Given the description of an element on the screen output the (x, y) to click on. 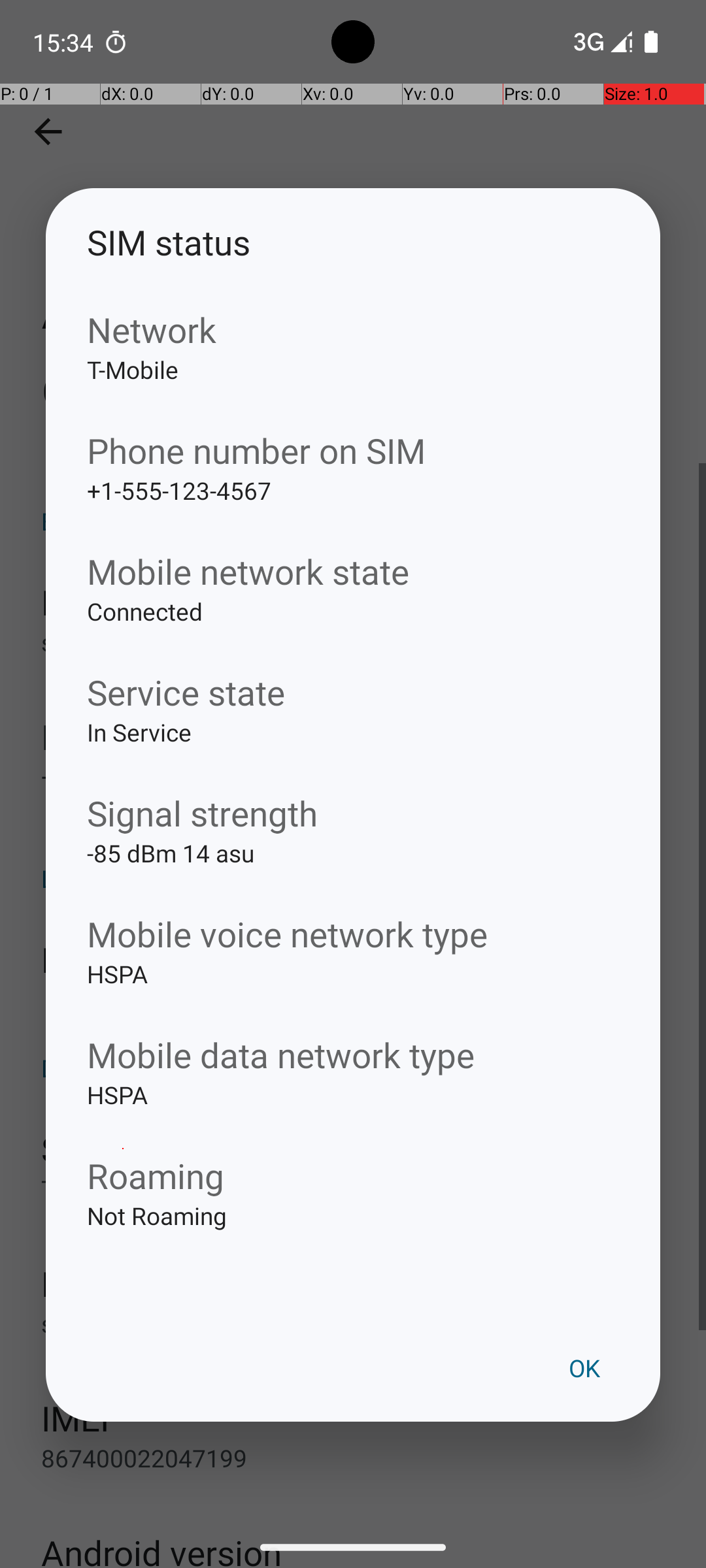
SIM status Element type: android.widget.TextView (352, 241)
Network Element type: android.widget.TextView (352, 329)
Phone number on SIM Element type: android.widget.TextView (352, 450)
+1-555-123-4567 Element type: android.widget.TextView (352, 510)
Mobile network state Element type: android.widget.TextView (352, 571)
Connected Element type: android.widget.TextView (352, 631)
Service state Element type: android.widget.TextView (352, 692)
In Service Element type: android.widget.TextView (352, 752)
Signal strength Element type: android.widget.TextView (352, 812)
-85 dBm 14 asu Element type: android.widget.TextView (352, 873)
Mobile voice network type Element type: android.widget.TextView (352, 933)
HSPA Element type: android.widget.TextView (352, 994)
Mobile data network type Element type: android.widget.TextView (352, 1054)
Roaming Element type: android.widget.TextView (352, 1175)
Not Roaming Element type: android.widget.TextView (352, 1235)
